Given the description of an element on the screen output the (x, y) to click on. 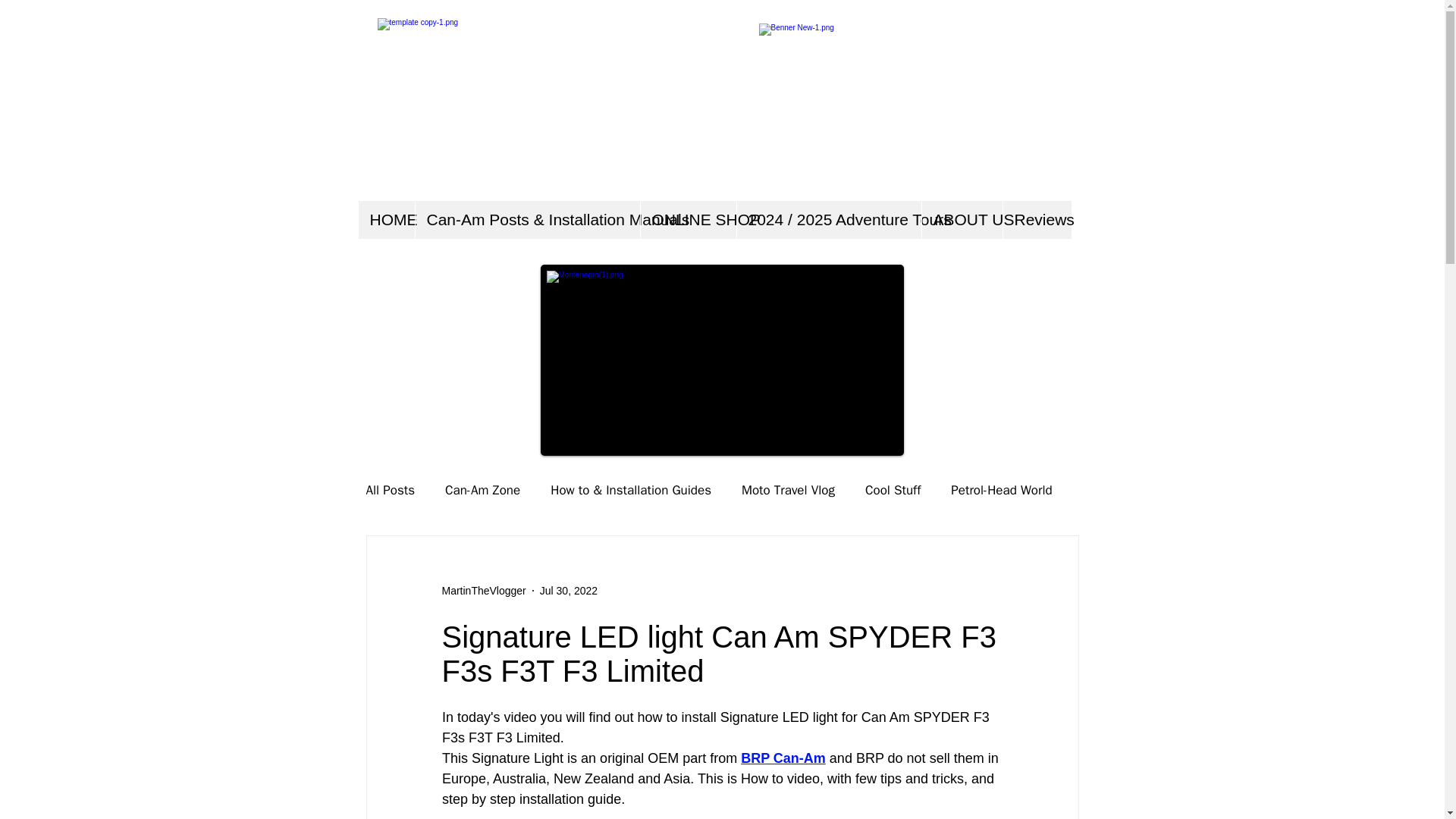
Can-Am Zone (482, 488)
All Posts (389, 488)
Jul 30, 2022 (568, 589)
Reviews (1037, 219)
MartinTheVlogger (483, 590)
Petrol-Head World (1000, 488)
ABOUT US (960, 219)
Cool Stuff (892, 488)
BRP Can-Am (783, 758)
Moto Travel Vlog (787, 488)
